Given the description of an element on the screen output the (x, y) to click on. 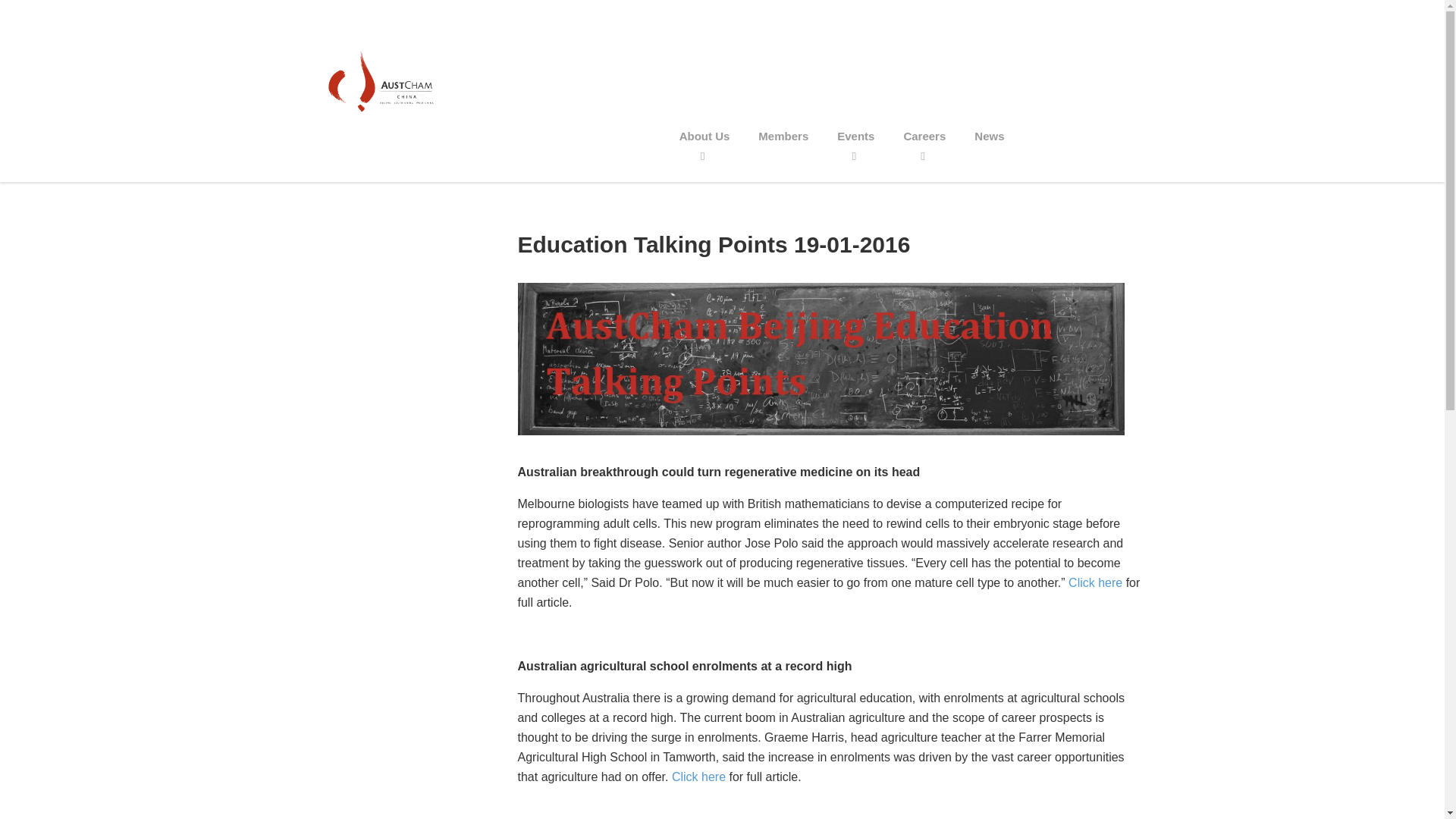
Click here (698, 776)
Click here (1095, 582)
